Given the description of an element on the screen output the (x, y) to click on. 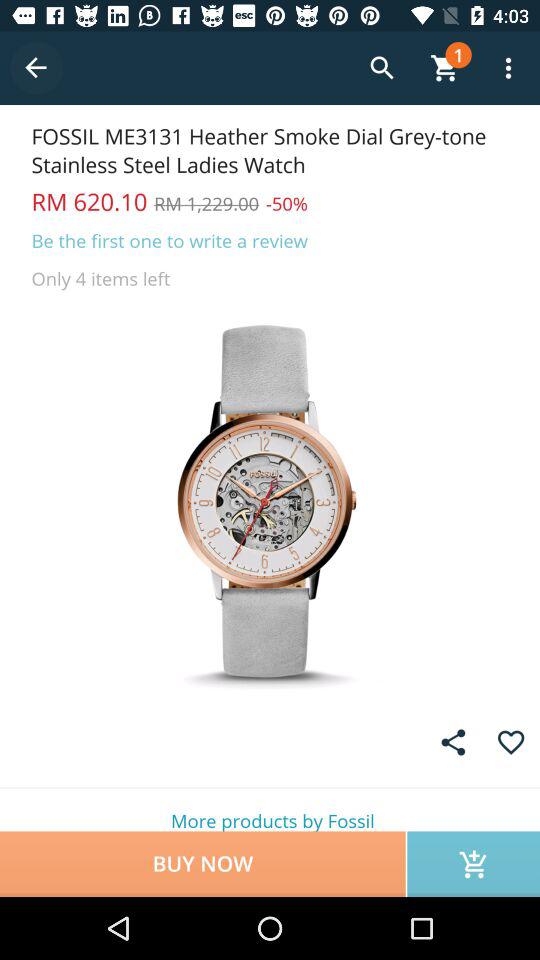
share with others link (453, 742)
